Given the description of an element on the screen output the (x, y) to click on. 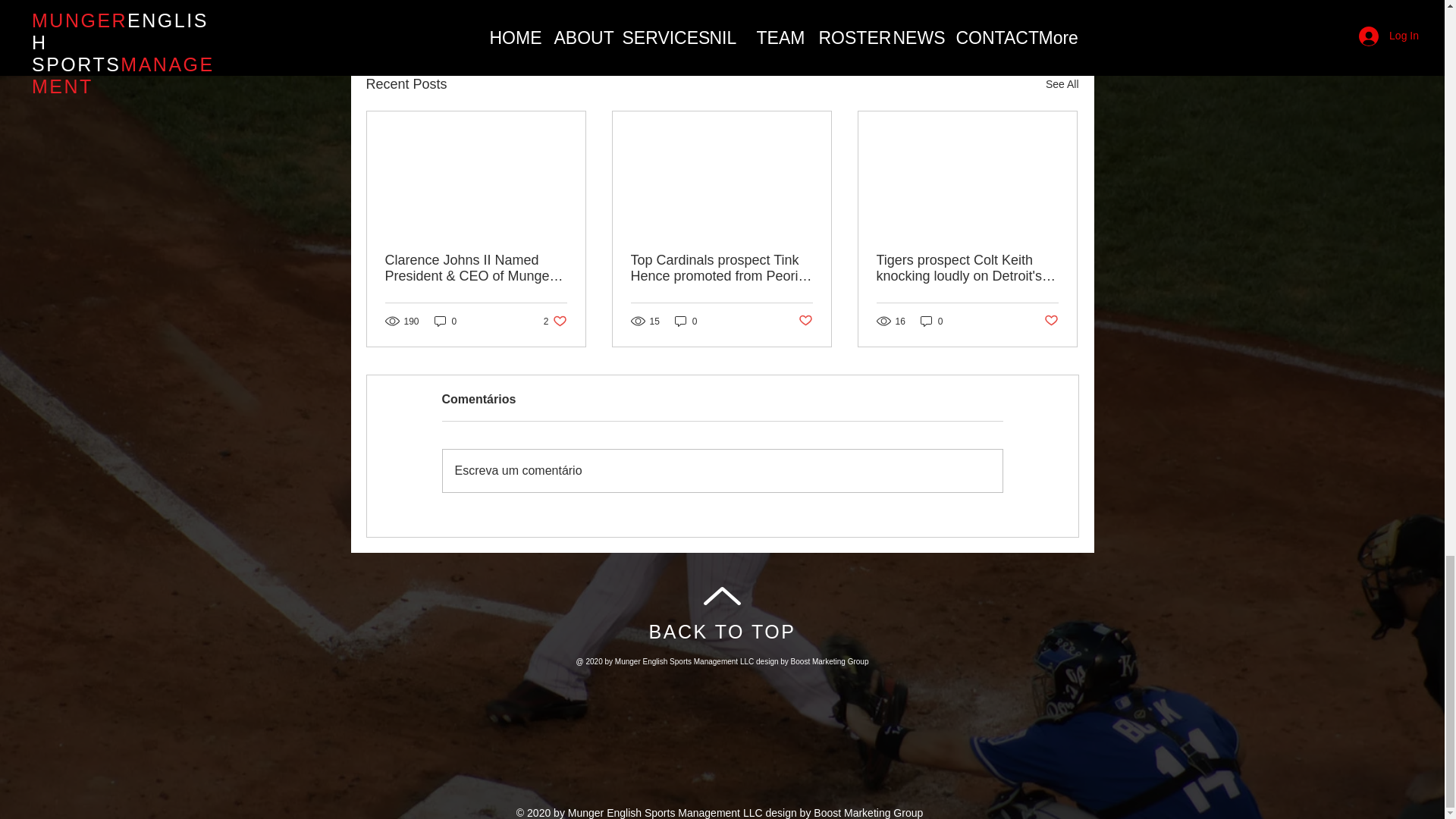
0 (685, 320)
Post not marked as liked (1050, 320)
BACK TO TOP (722, 631)
Post not marked as liked (995, 4)
Post not marked as liked (804, 320)
0 (931, 320)
Tigers prospect Colt Keith knocking loudly on Detroit's door (967, 268)
0 (445, 320)
See All (1061, 84)
